Given the description of an element on the screen output the (x, y) to click on. 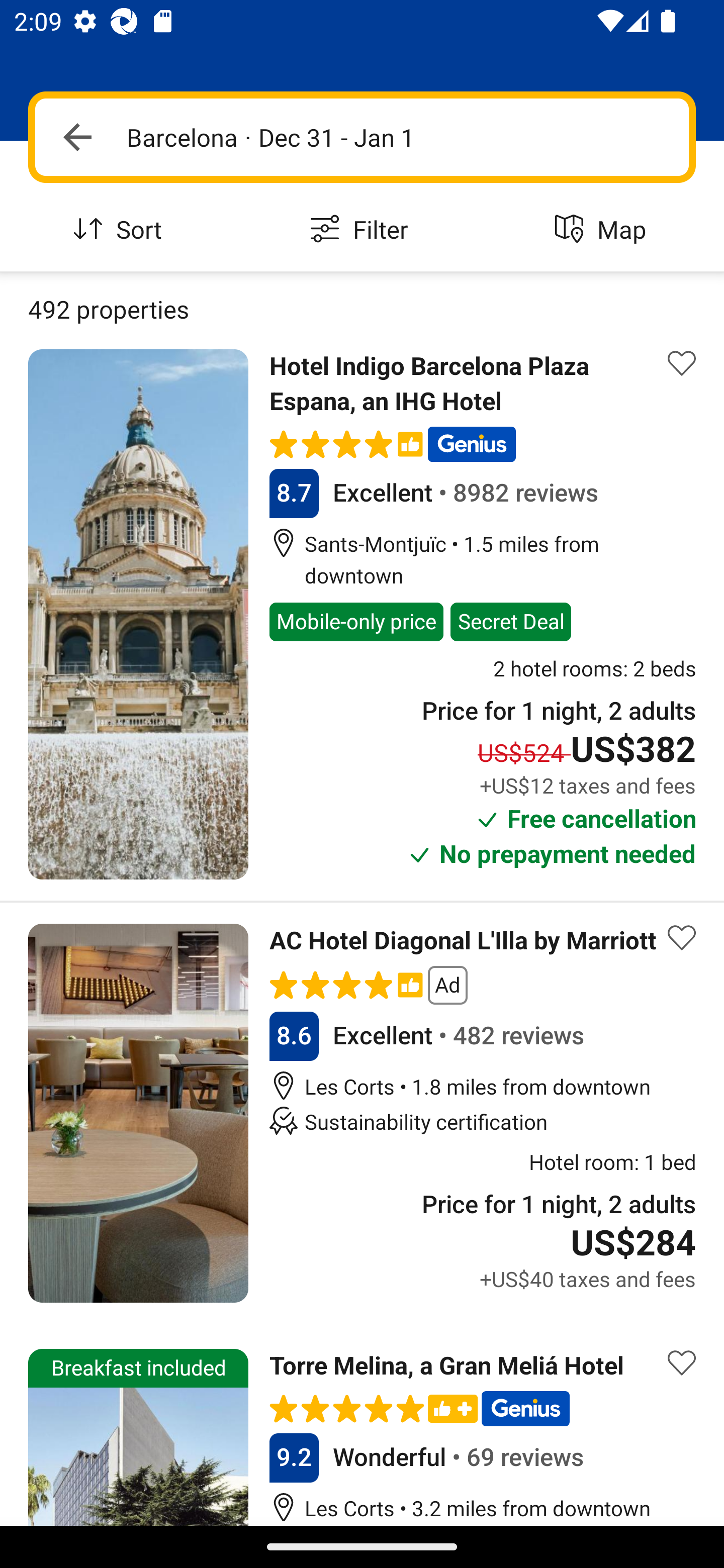
Navigate up Barcelona · Dec 31 - Jan 1 (362, 136)
Navigate up (77, 136)
Sort (120, 230)
Filter (361, 230)
Map (603, 230)
Save property to list (681, 363)
Save property to list (681, 937)
Save property to list (681, 1362)
